Given the description of an element on the screen output the (x, y) to click on. 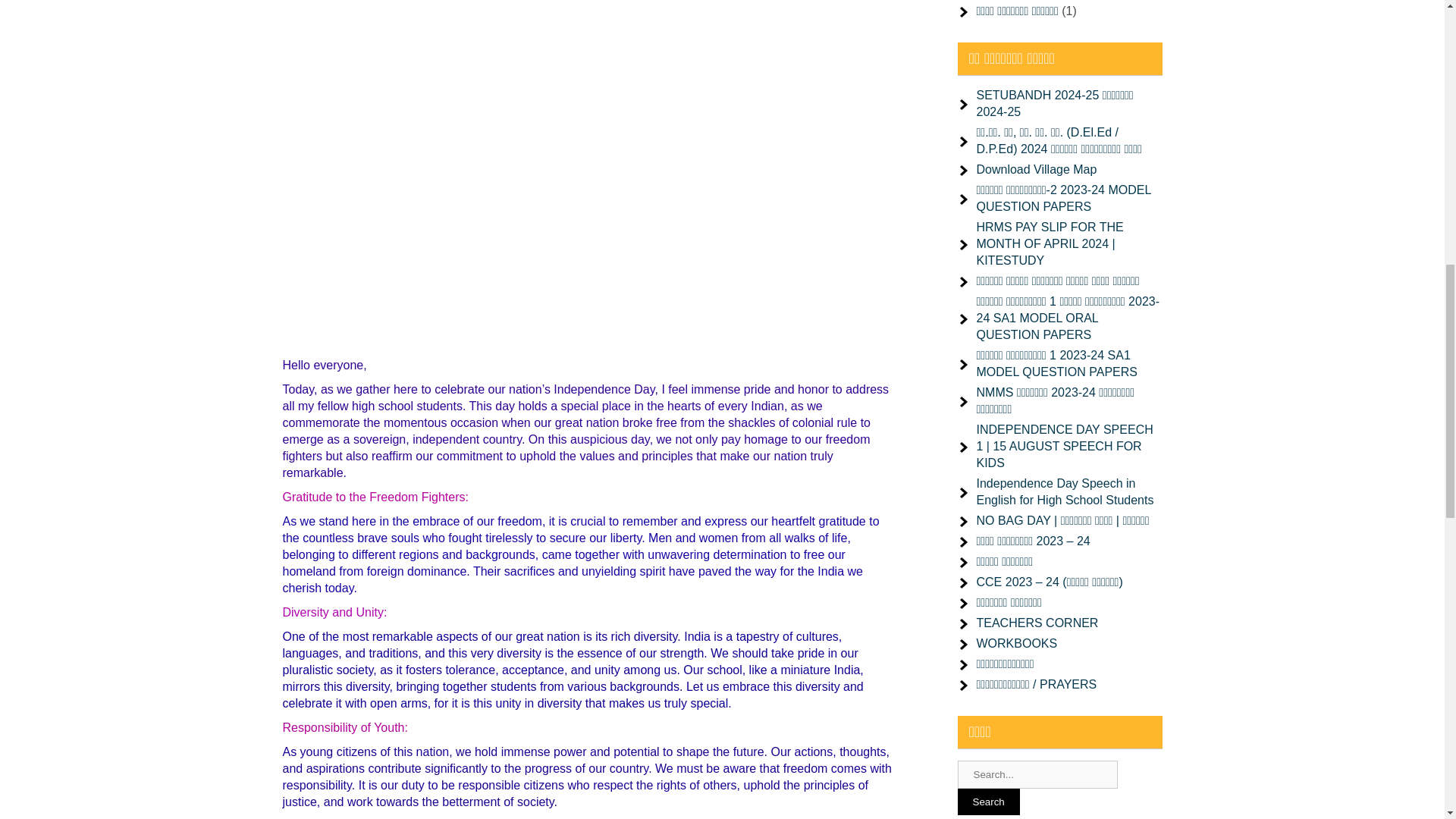
Search (987, 801)
Search (987, 801)
